Given the description of an element on the screen output the (x, y) to click on. 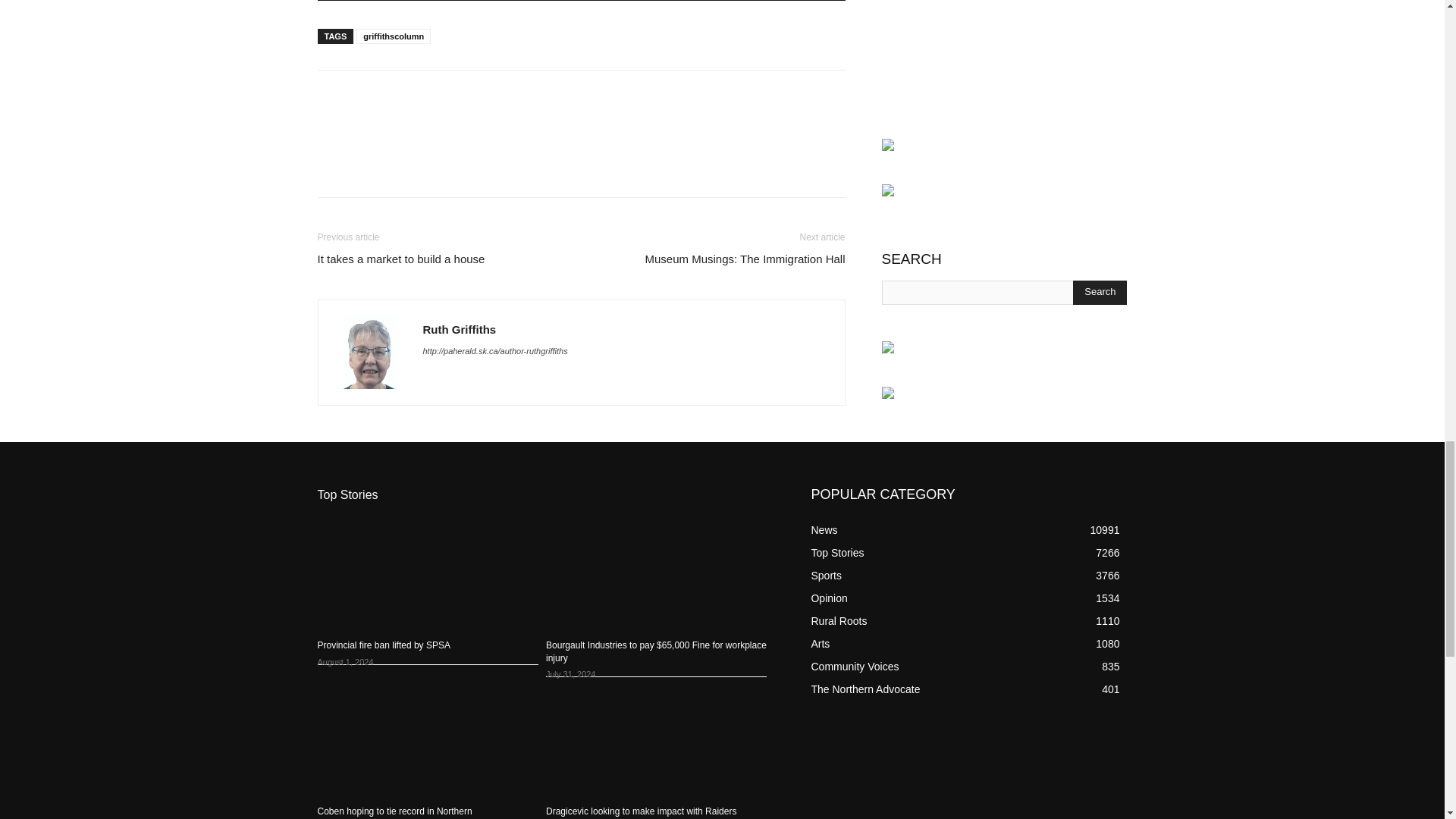
Search (1099, 292)
